Given the description of an element on the screen output the (x, y) to click on. 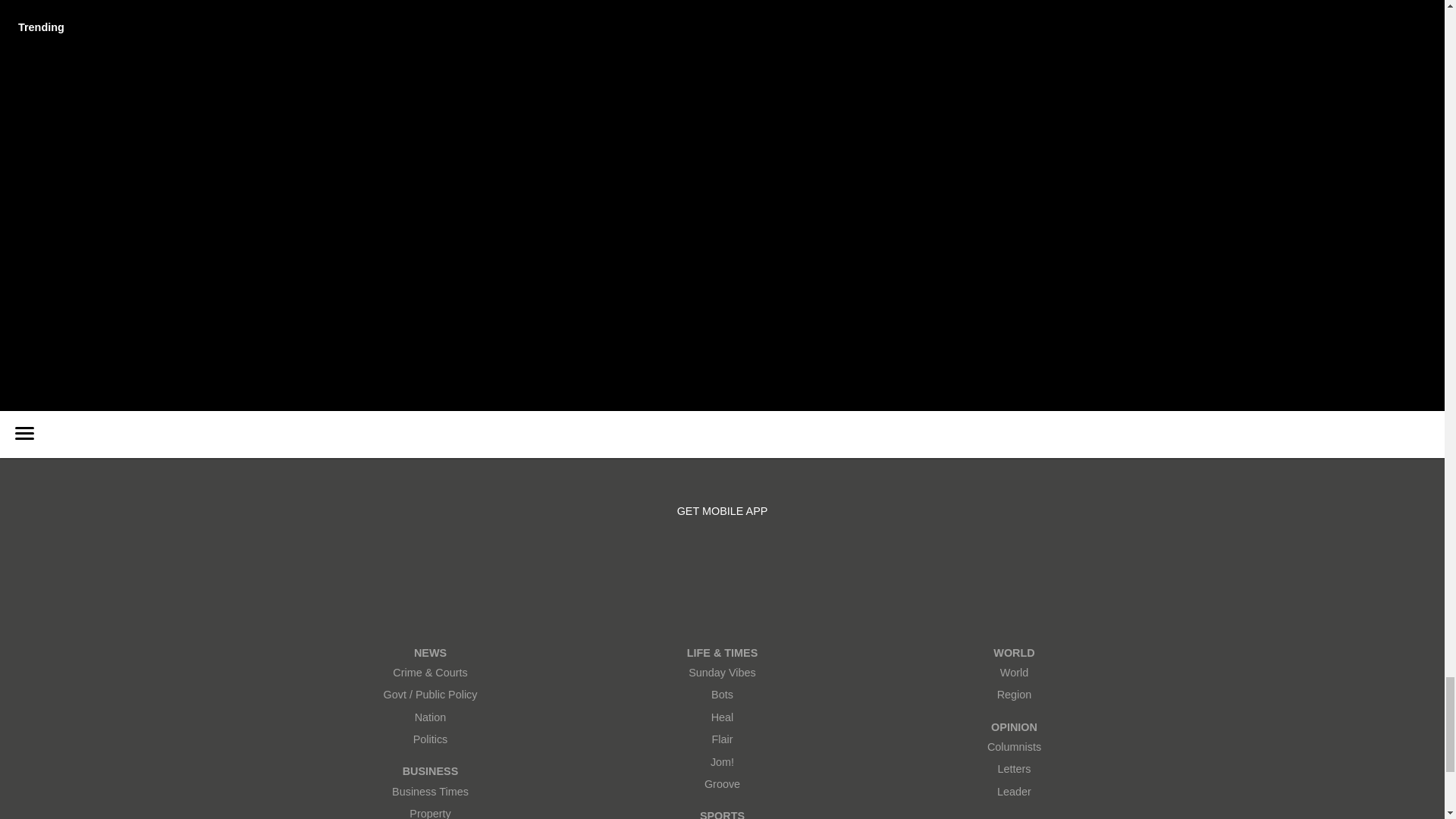
Property (429, 811)
Politics (429, 739)
Business Times (429, 791)
BUSINESS (429, 771)
NEWS (429, 652)
Nation (429, 717)
